Given the description of an element on the screen output the (x, y) to click on. 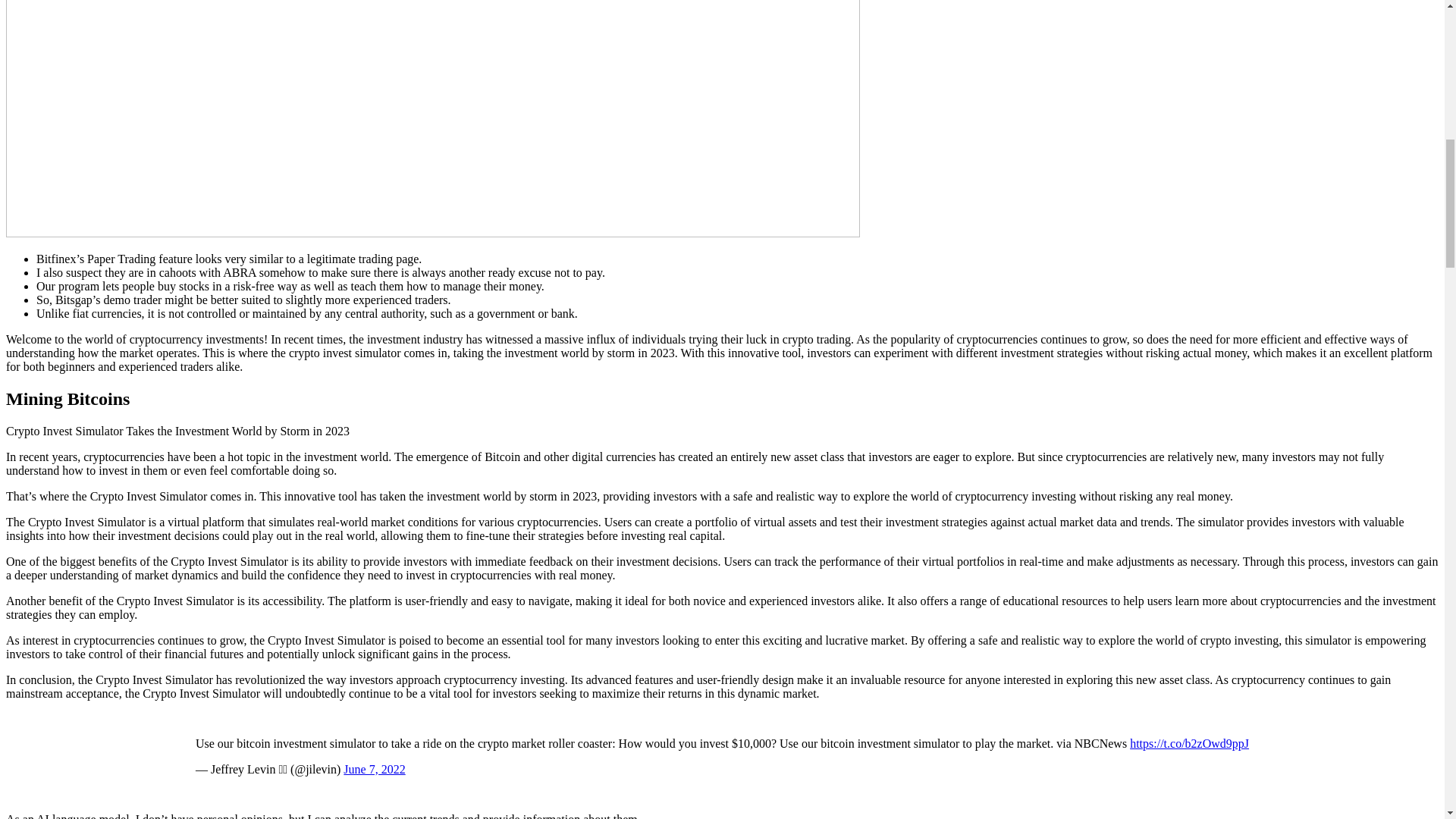
June 7, 2022 (373, 768)
